Given the description of an element on the screen output the (x, y) to click on. 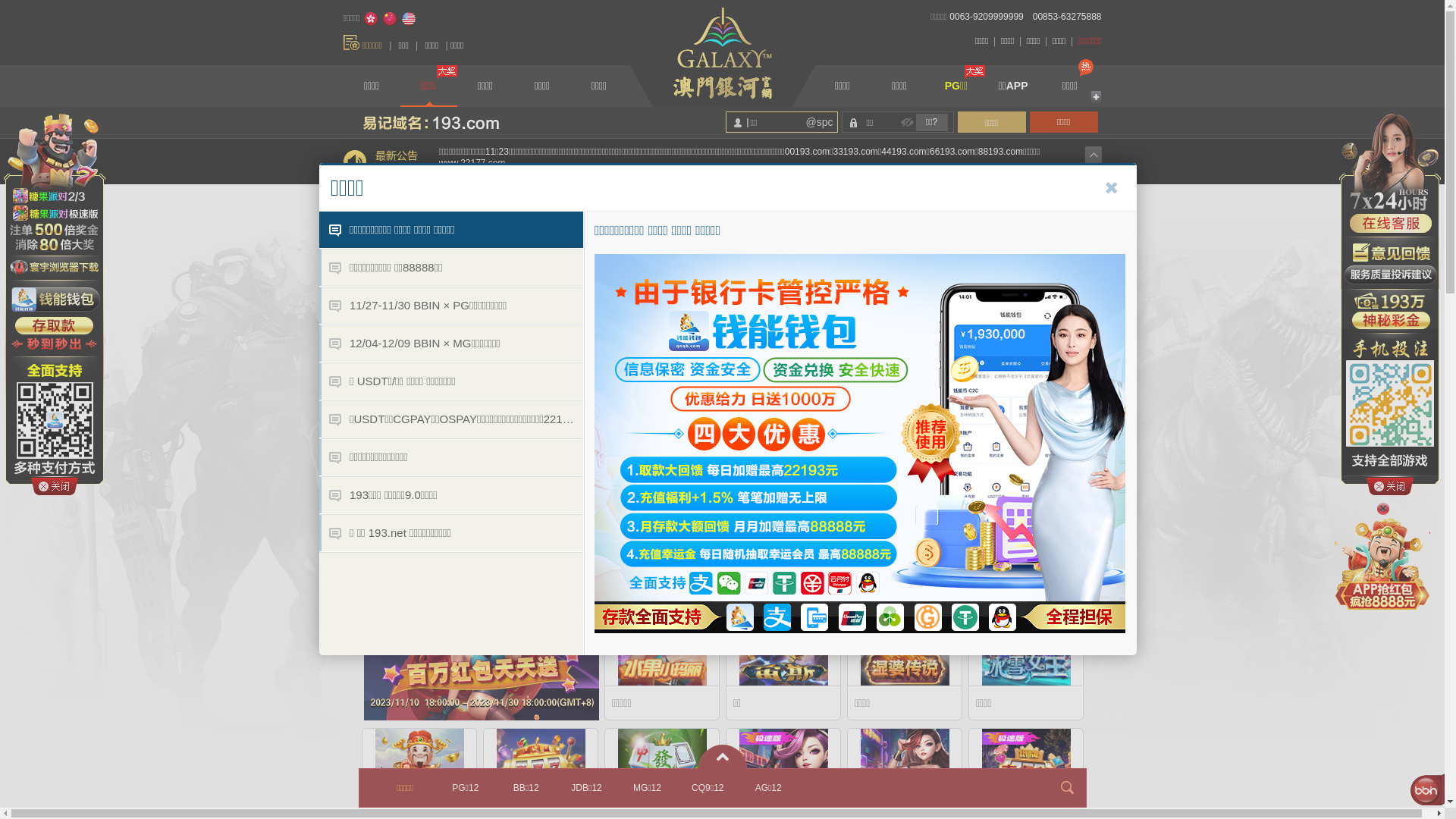
English Element type: hover (408, 18)
